Given the description of an element on the screen output the (x, y) to click on. 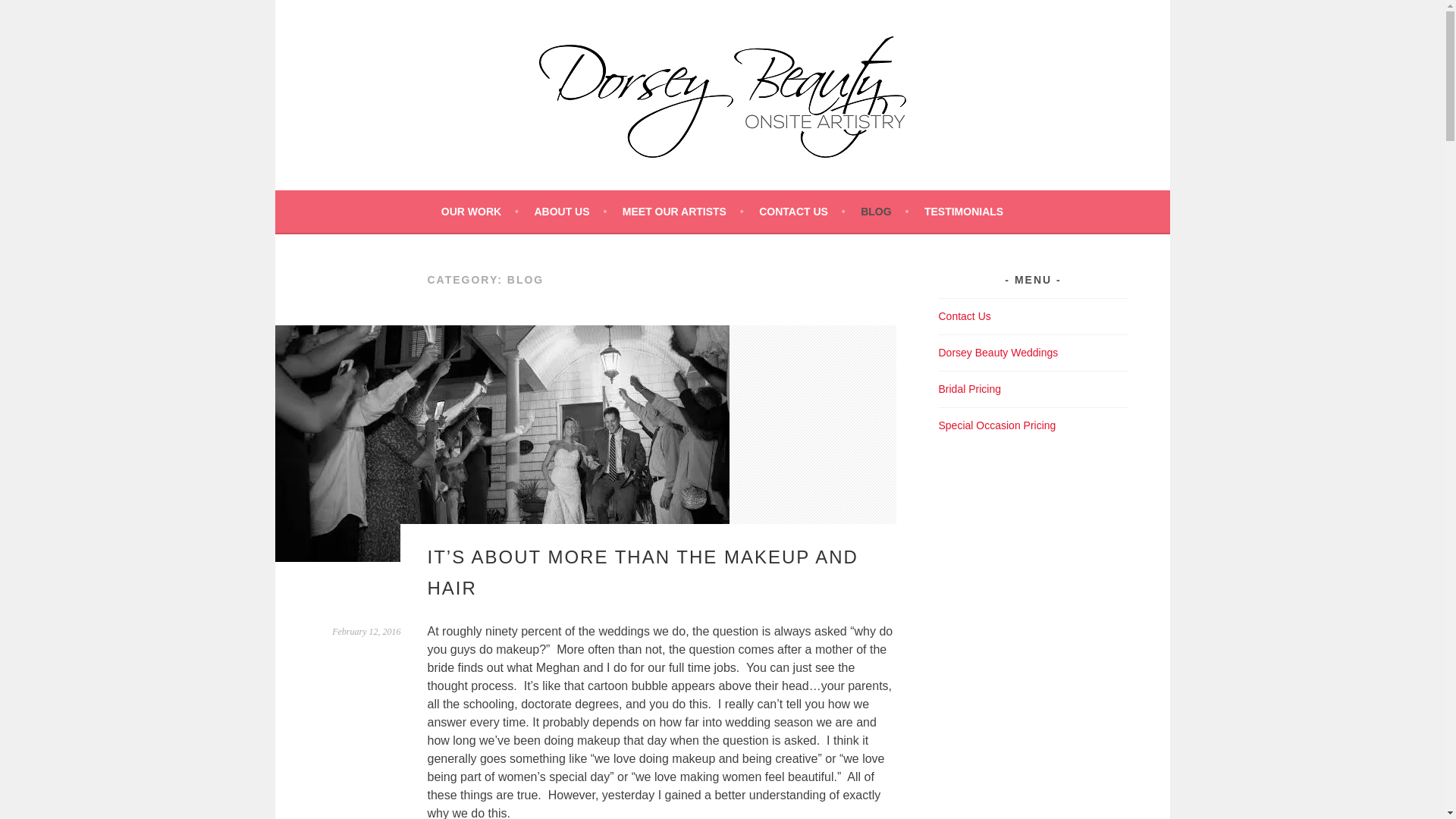
TESTIMONIALS (963, 211)
MEET OUR ARTISTS (683, 211)
Dorsey Beauty (441, 198)
CONTACT US (801, 211)
OUR WORK (479, 211)
DORSEY BEAUTY (441, 198)
ABOUT US (570, 211)
February 12, 2016 (365, 631)
Dorsey Beauty Weddings (998, 352)
Contact Us (965, 316)
